Given the description of an element on the screen output the (x, y) to click on. 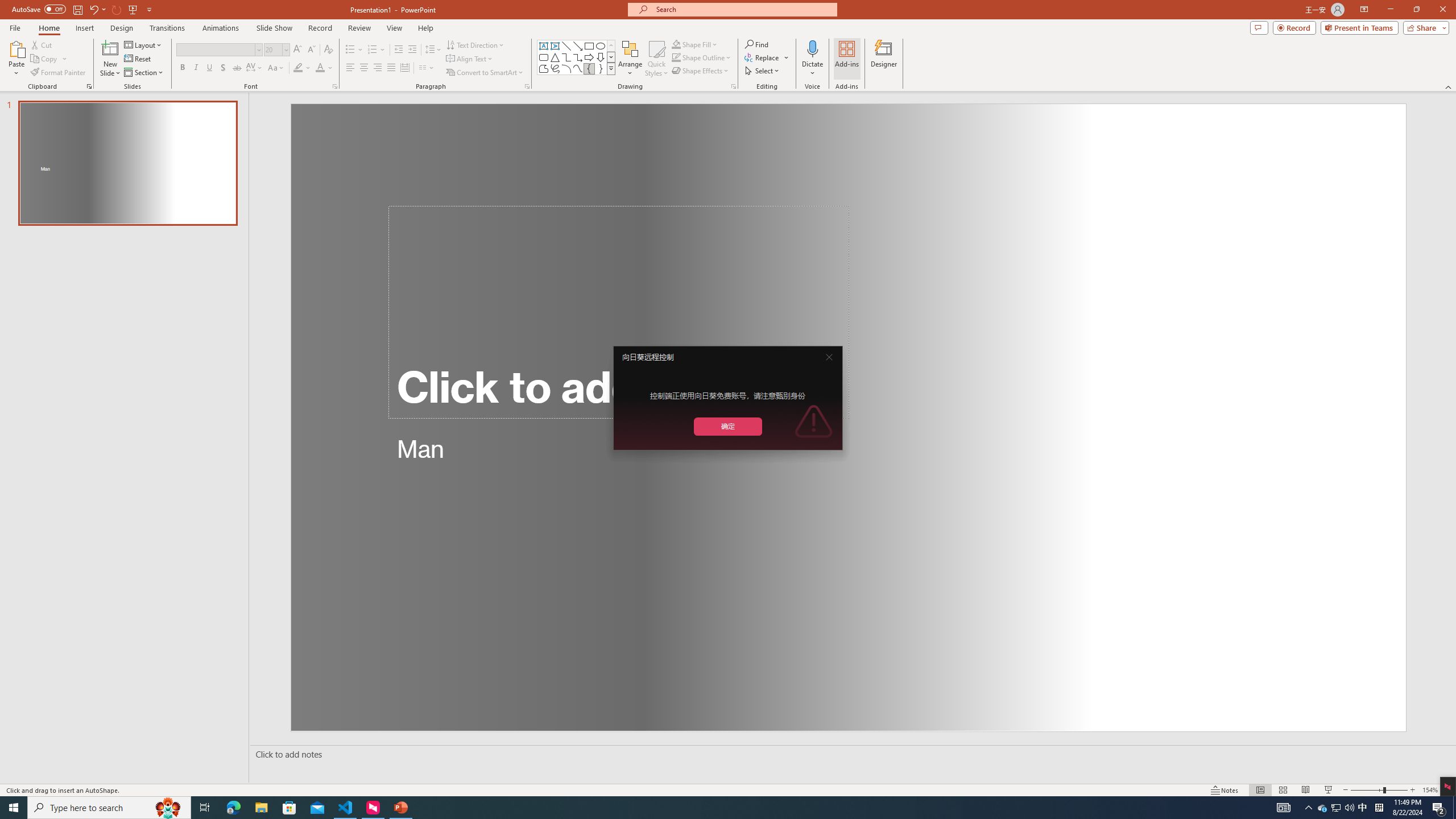
Microsoft Edge (233, 807)
